Given the description of an element on the screen output the (x, y) to click on. 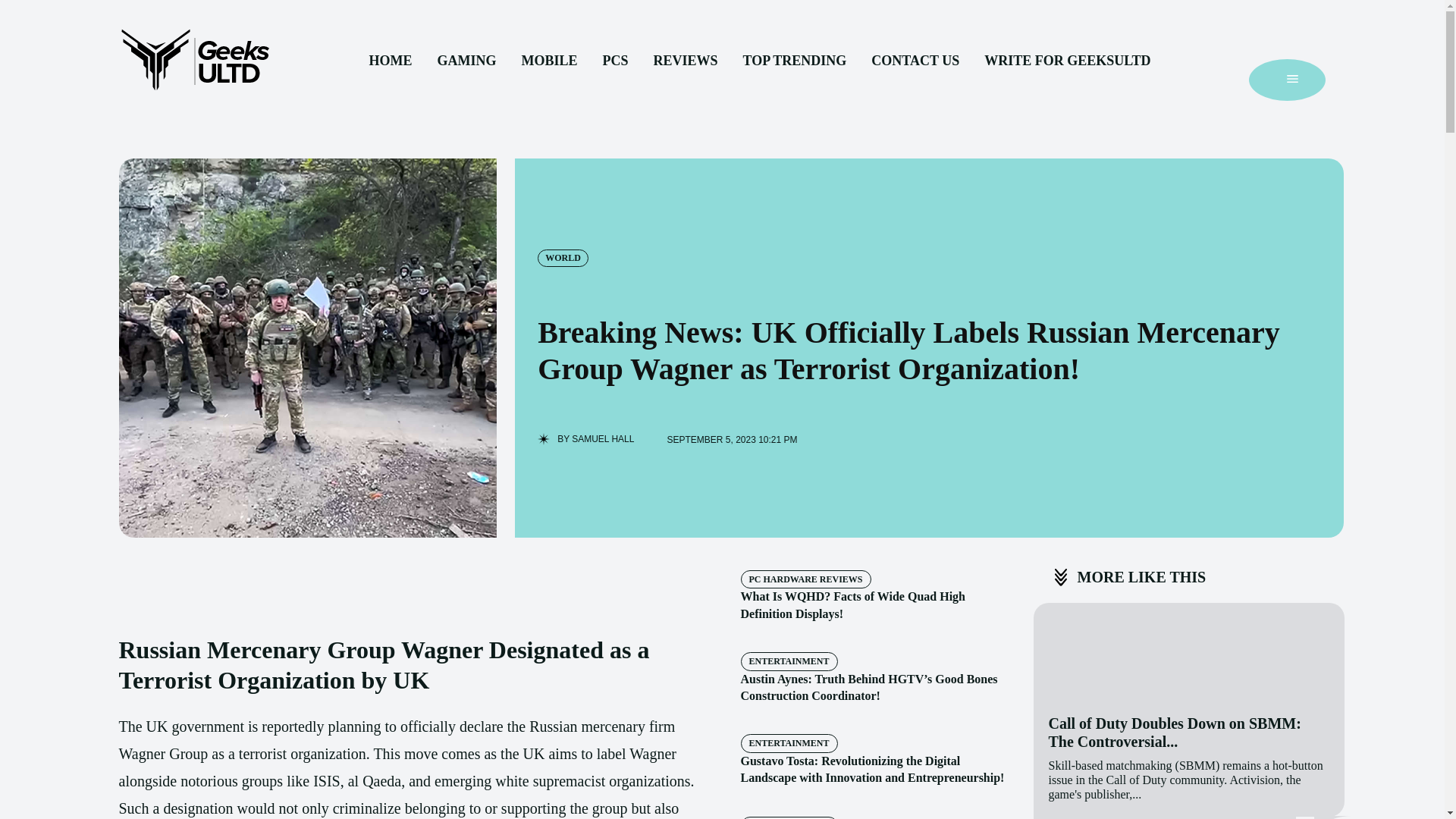
PCS (615, 60)
HOME (390, 60)
REVIEWS (685, 60)
MOBILE (549, 60)
What Is WQHD? Facts of Wide Quad High Definition Displays! (852, 604)
GAMING (466, 60)
